Given the description of an element on the screen output the (x, y) to click on. 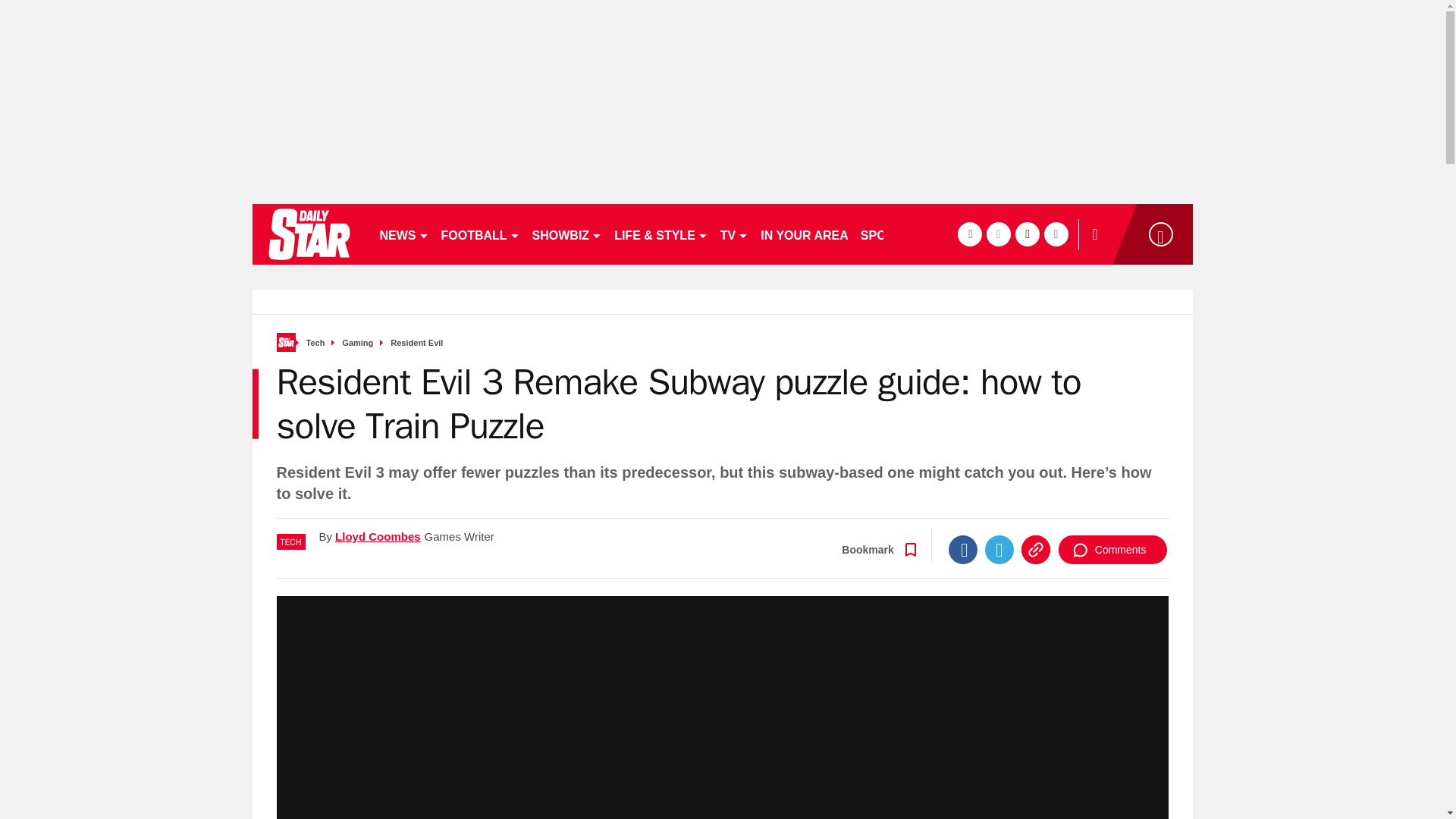
facebook (968, 233)
tiktok (1026, 233)
Comments (1112, 549)
FOOTBALL (480, 233)
SHOWBIZ (566, 233)
NEWS (402, 233)
twitter (997, 233)
Twitter (999, 549)
dailystar (308, 233)
instagram (1055, 233)
